Given the description of an element on the screen output the (x, y) to click on. 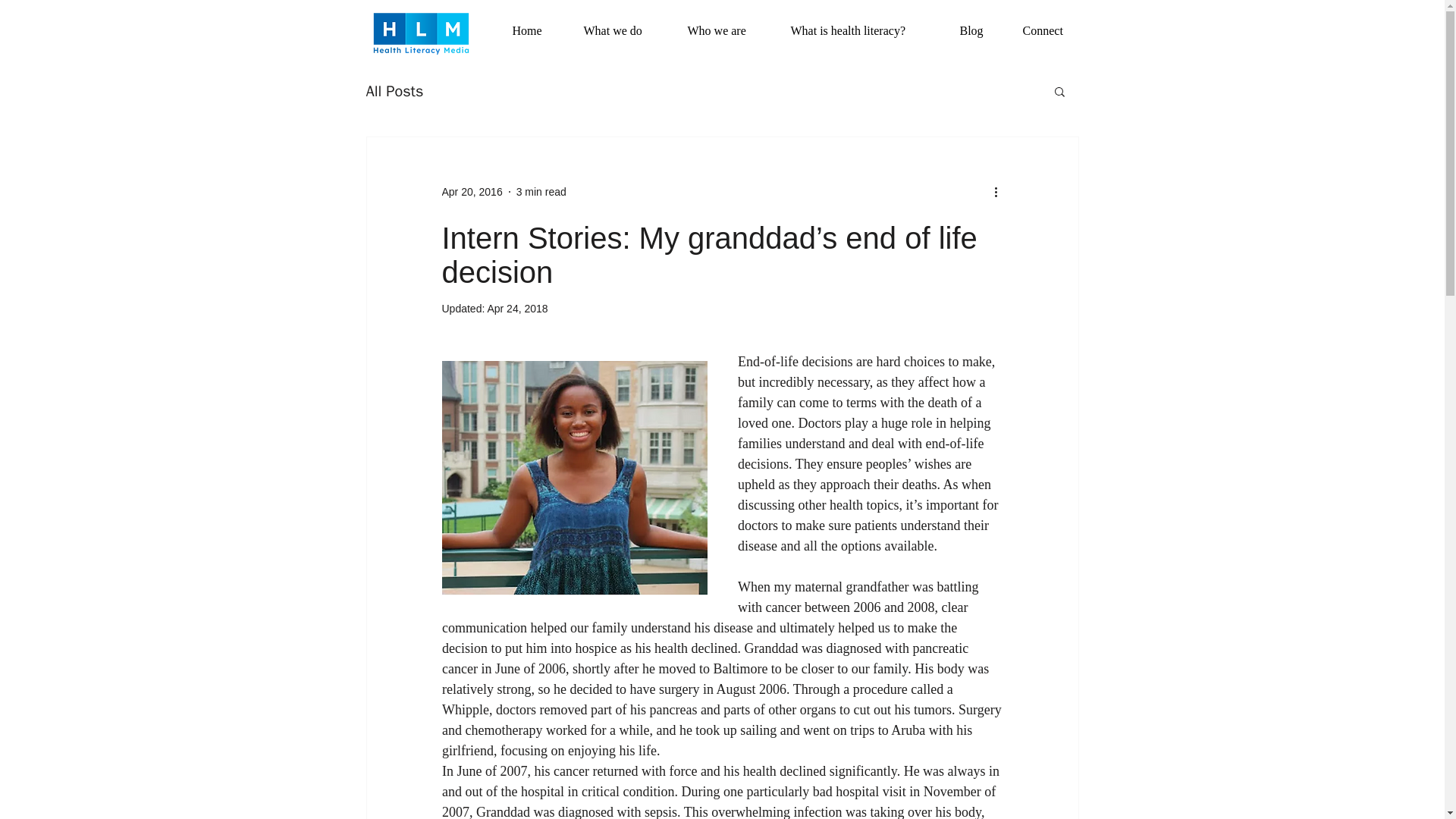
All Posts (394, 90)
What we do (623, 30)
Apr 20, 2016 (471, 191)
Connect (1052, 30)
What is health literacy? (862, 30)
3 min read (541, 191)
Apr 24, 2018 (516, 308)
Home (535, 30)
Blog (978, 30)
Who we are (727, 30)
